Given the description of an element on the screen output the (x, y) to click on. 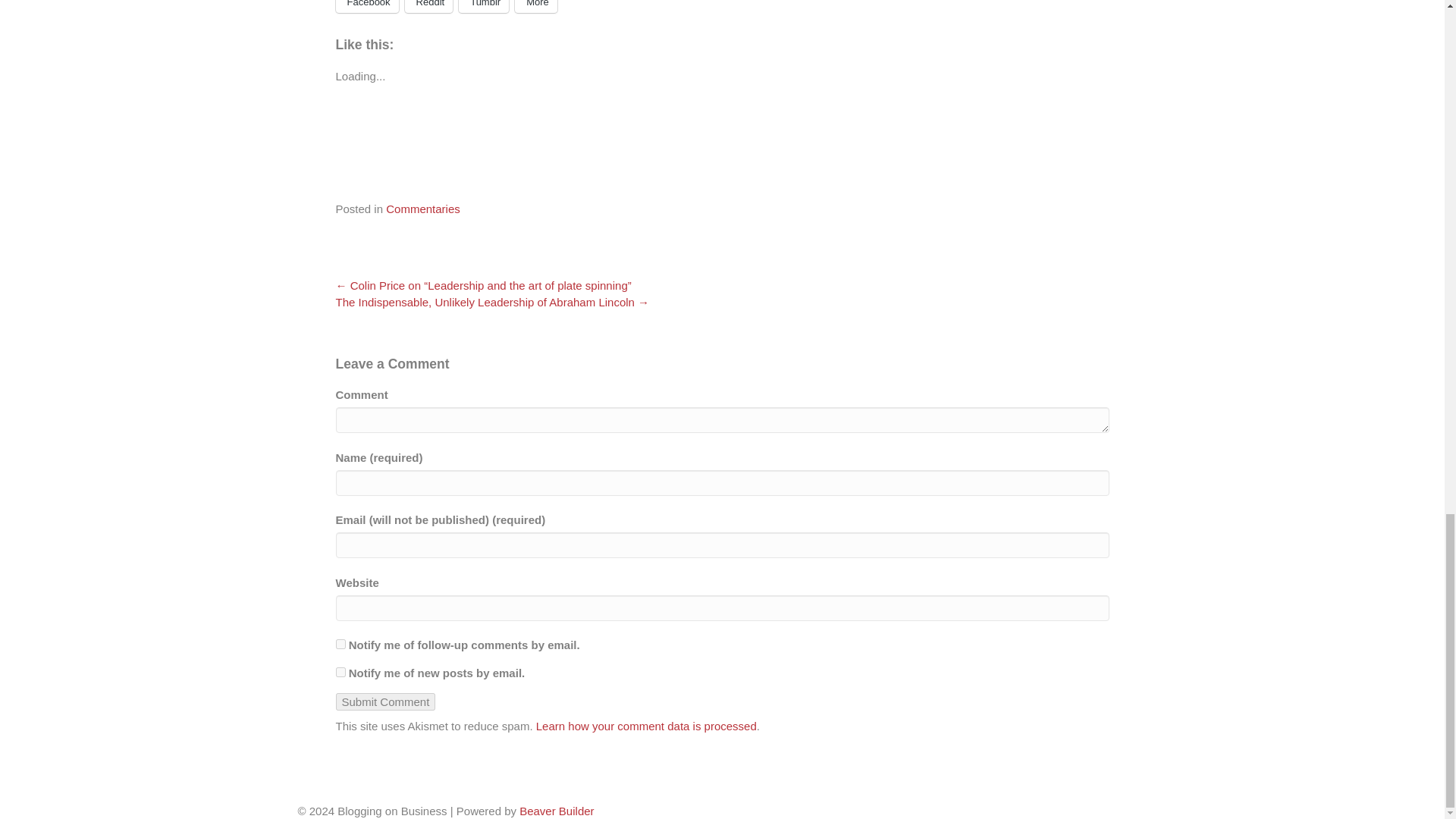
subscribe (339, 672)
subscribe (339, 644)
Tumblr (483, 6)
Click to share on Tumblr (483, 6)
Submit Comment (384, 701)
Reddit (428, 6)
More (536, 6)
Facebook (365, 6)
Click to share on Reddit (428, 6)
Click to share on Facebook (365, 6)
